Given the description of an element on the screen output the (x, y) to click on. 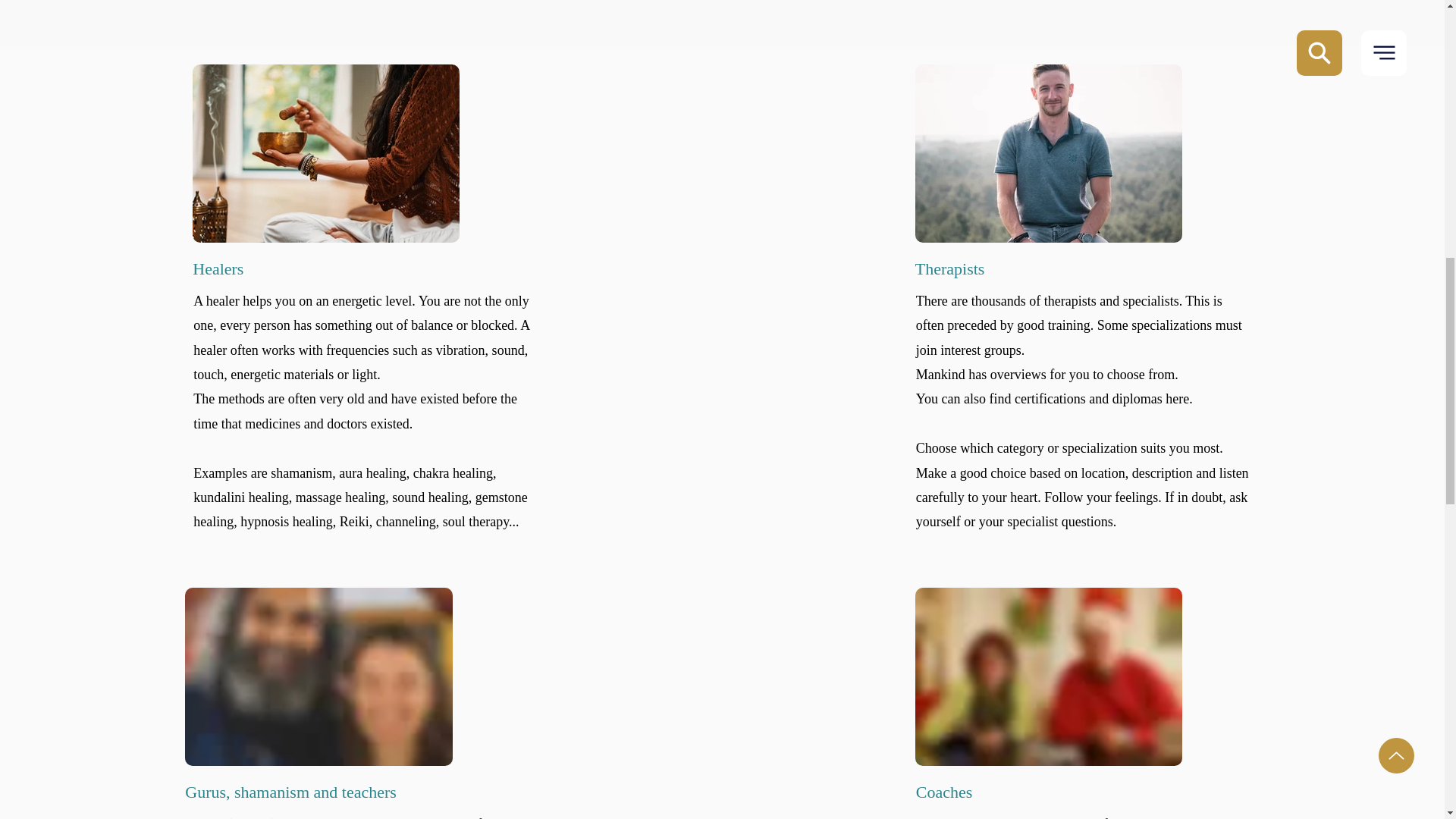
Find a Therapist (1048, 153)
Find a Healer (326, 153)
